Given the description of an element on the screen output the (x, y) to click on. 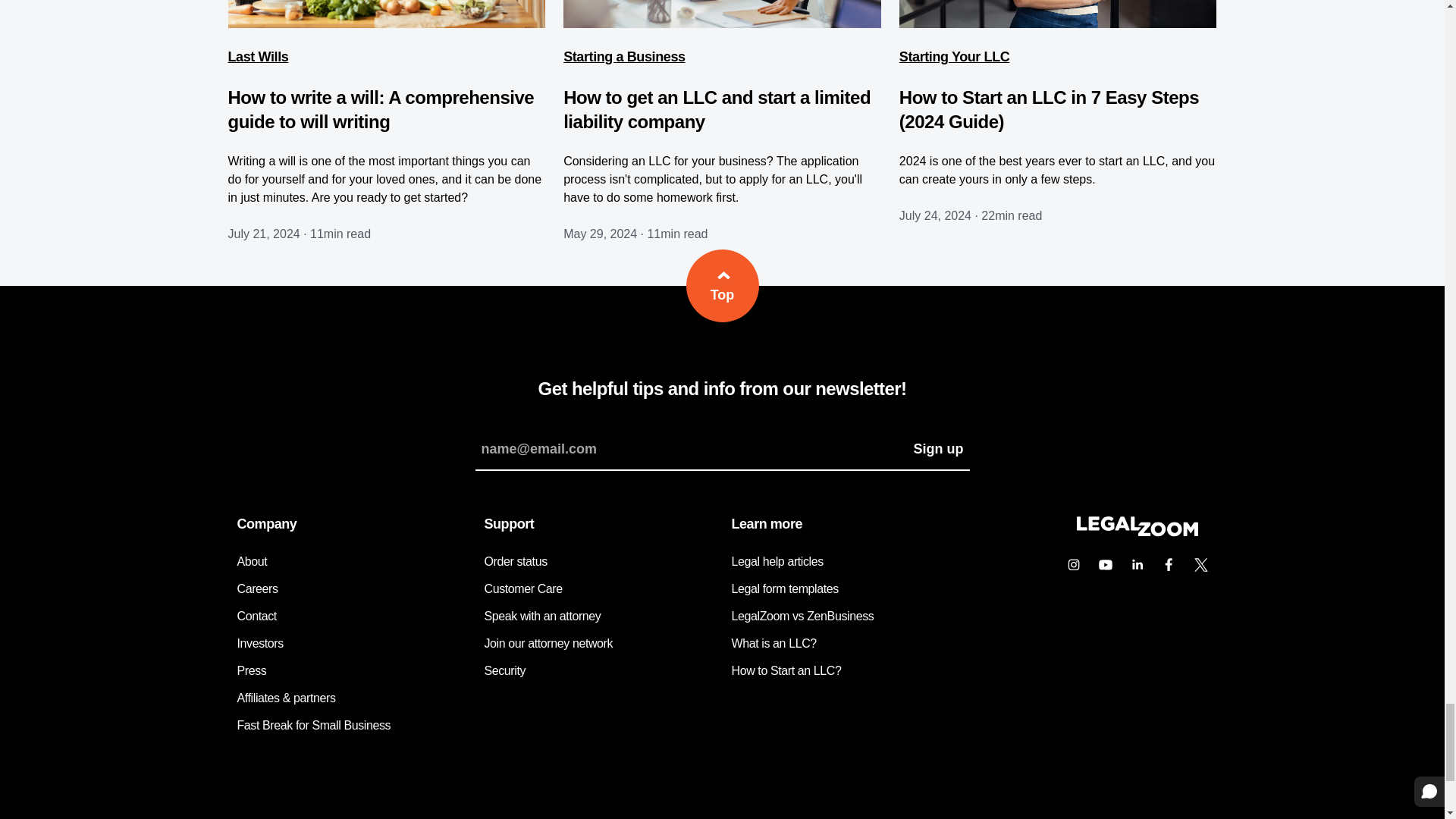
Facebook (1169, 564)
Sign up (938, 448)
Instagram (1073, 564)
LinkedIn (1137, 564)
Twitter (1200, 564)
Back to top (721, 285)
YouTube (1105, 564)
LegalZoom (1136, 531)
